Given the description of an element on the screen output the (x, y) to click on. 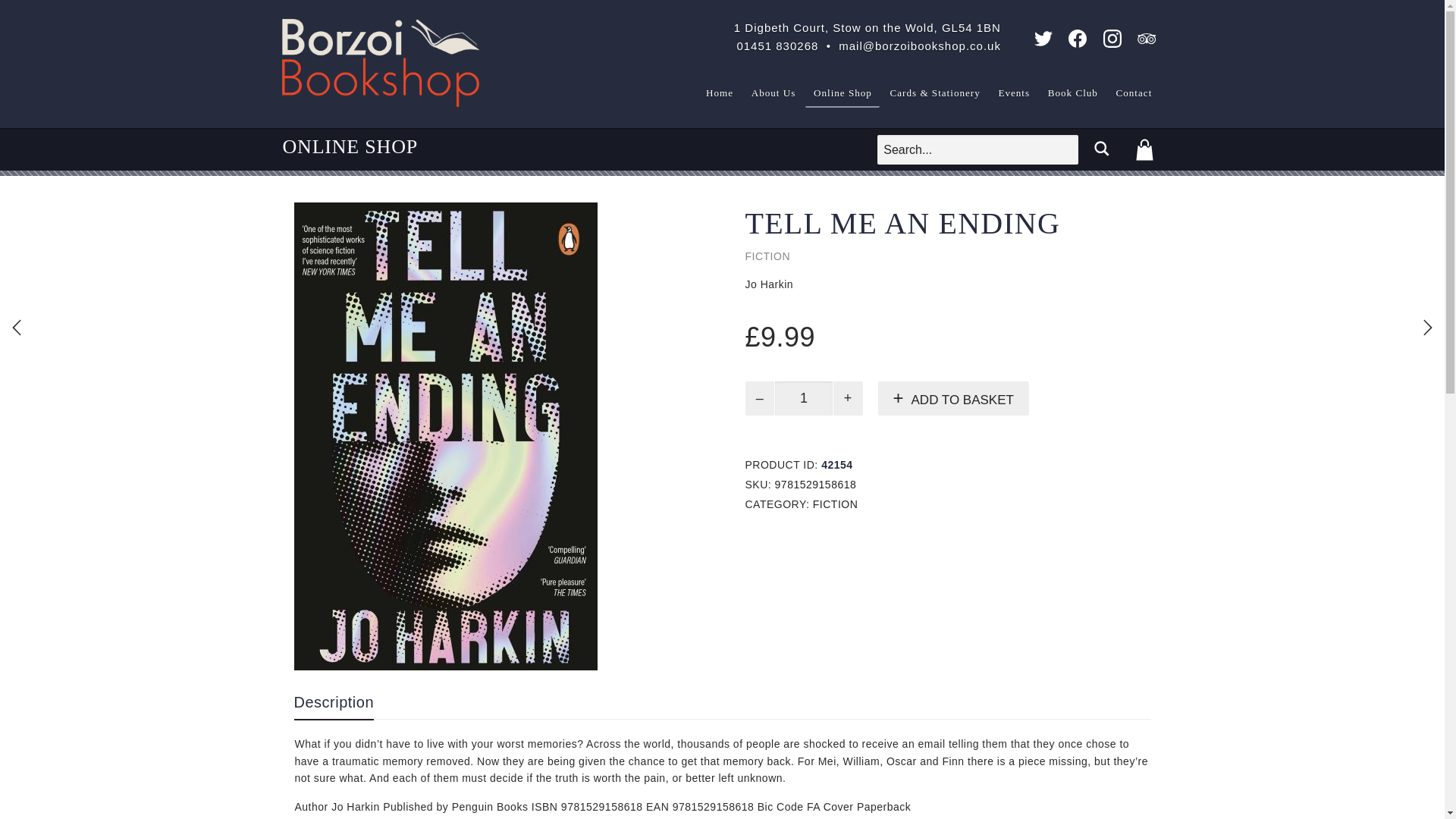
Twitter icon (1042, 38)
ONLINE SHOP (349, 150)
Instagram icon (1114, 43)
Events (1014, 94)
Book Club (1072, 94)
Home (719, 94)
Facebook icon (1079, 43)
Facebook icon (1077, 38)
TripAdvisor icon (1146, 38)
FICTION (835, 503)
